Given the description of an element on the screen output the (x, y) to click on. 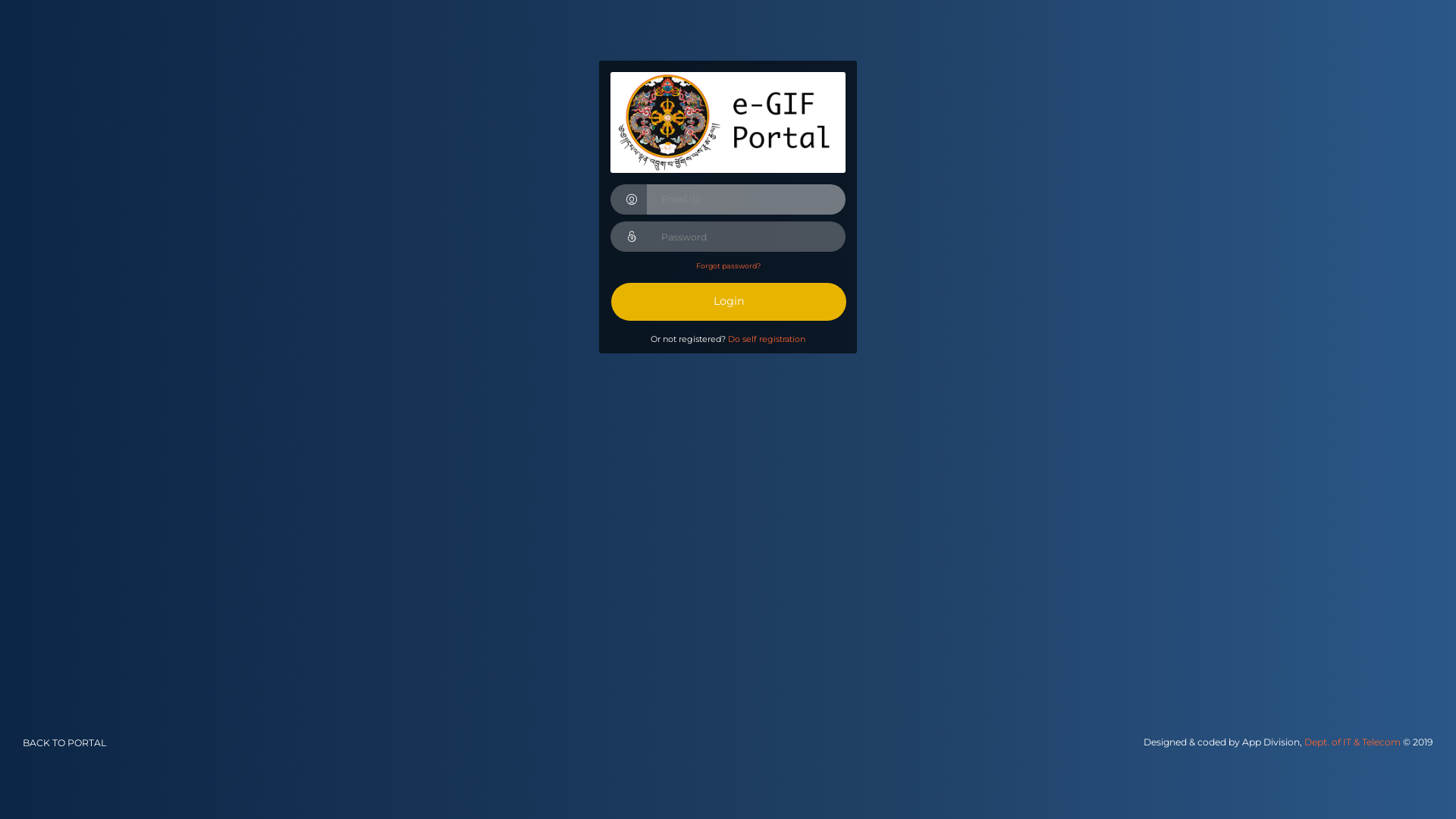
Do self registration Element type: text (766, 338)
Dept. of IT & Telecom Element type: text (1353, 741)
Forgot password? Element type: text (728, 265)
BACK TO PORTAL Element type: text (61, 751)
Login Element type: text (728, 301)
